Given the description of an element on the screen output the (x, y) to click on. 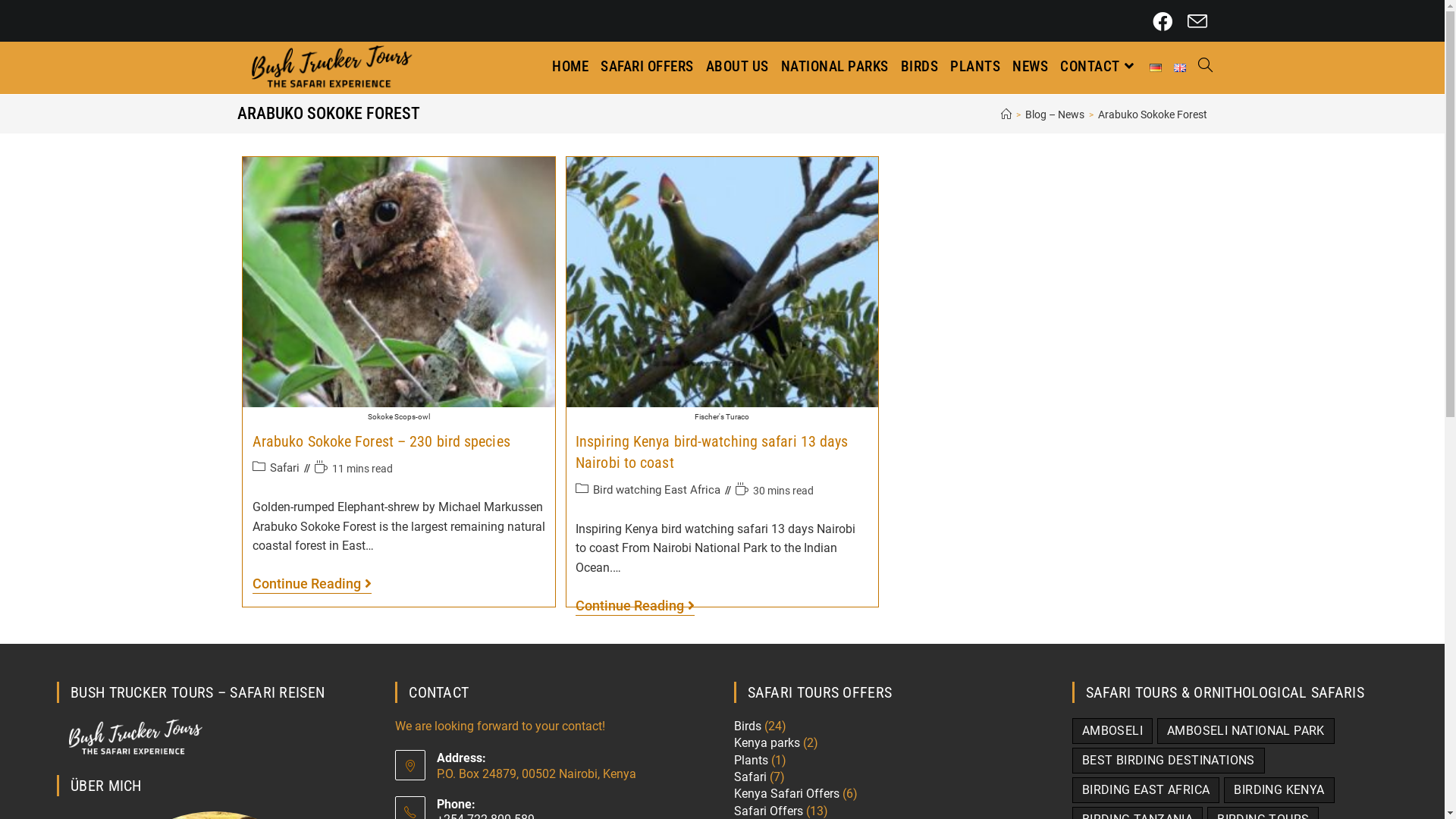
ABOUT US Element type: text (736, 66)
HOME Element type: text (570, 66)
NATIONAL PARKS Element type: text (834, 66)
Birds Element type: text (747, 725)
BIRDING KENYA Element type: text (1278, 790)
PLANTS Element type: text (975, 66)
Safari Element type: text (284, 467)
Safari Element type: text (750, 776)
BIRDS Element type: text (919, 66)
BEST BIRDING DESTINATIONS Element type: text (1168, 760)
Kenya parks Element type: text (767, 742)
TOGGLE WEBSITE SEARCH Element type: text (1205, 66)
NEWS Element type: text (1030, 66)
Kenya Safari Offers Element type: text (786, 793)
Arabuko Sokoke Forest Element type: text (1152, 114)
SAFARI OFFERS Element type: text (646, 66)
Plants Element type: text (751, 759)
BIRDING EAST AFRICA Element type: text (1146, 790)
Safari Offers Element type: text (768, 810)
Bird watching East Africa Element type: text (656, 489)
CONTACT Element type: text (1098, 66)
AMBOSELI NATIONAL PARK Element type: text (1245, 730)
AMBOSELI Element type: text (1112, 730)
